Given the description of an element on the screen output the (x, y) to click on. 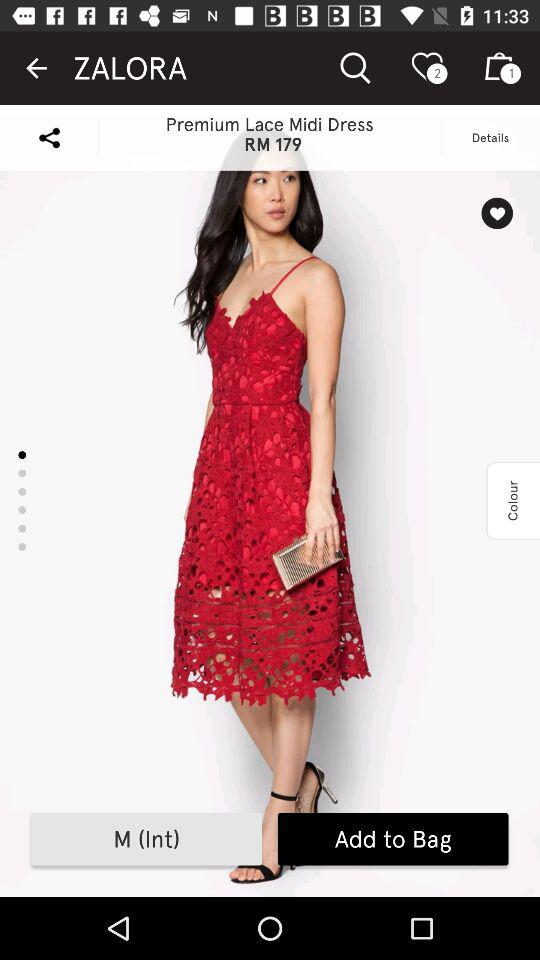
choose the item to the left of the zalora icon (36, 68)
